Given the description of an element on the screen output the (x, y) to click on. 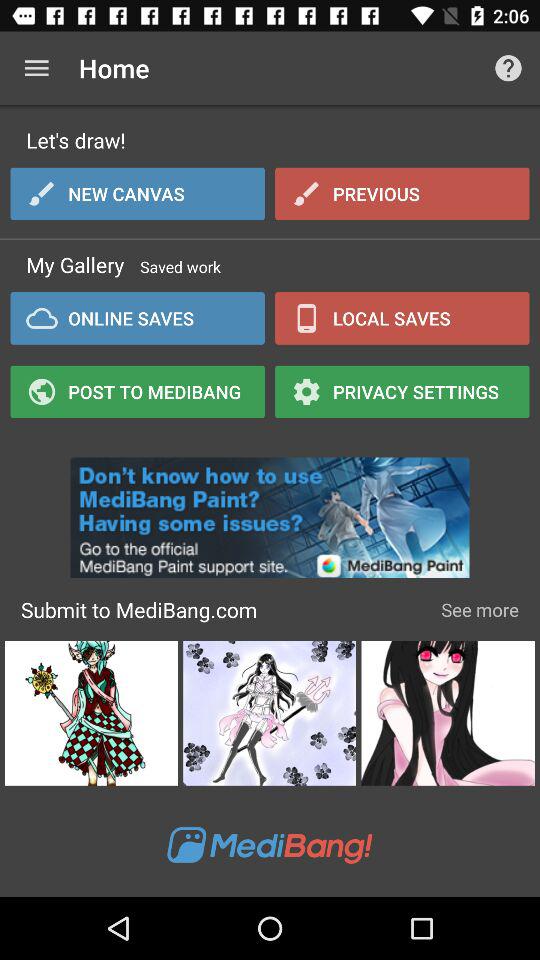
click image to see more (447, 713)
